Given the description of an element on the screen output the (x, y) to click on. 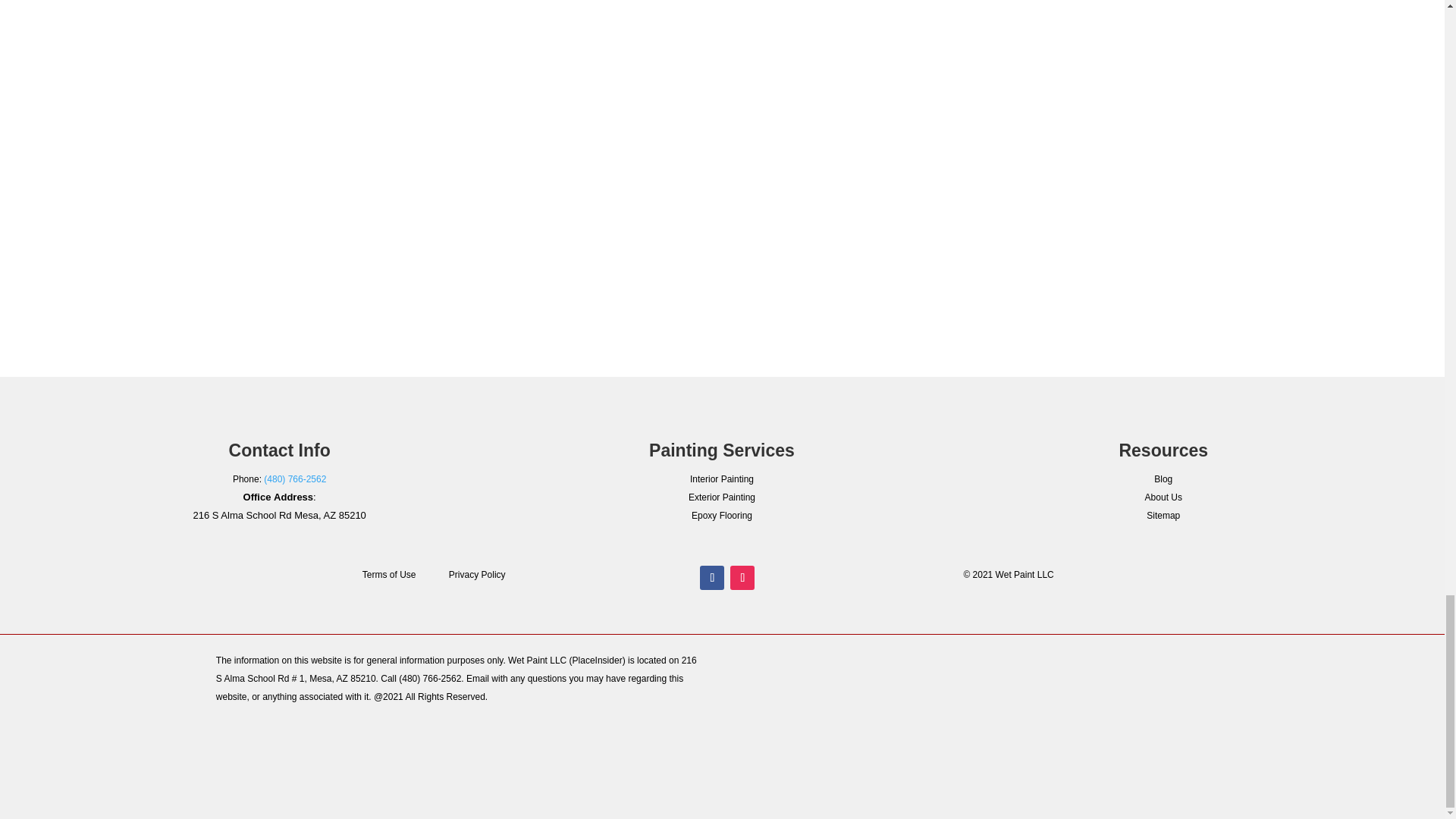
Interior Painting (722, 479)
Follow on Instagram (742, 577)
Terms of Use (389, 574)
Exterior Painting (721, 497)
Sitemap (1163, 515)
PlaceInsider (597, 660)
Privacy Policy (476, 574)
About Us (1163, 497)
Epoxy Flooring (721, 515)
Blog (1163, 479)
Group 266 (1240, 696)
Follow on Facebook (711, 577)
